Given the description of an element on the screen output the (x, y) to click on. 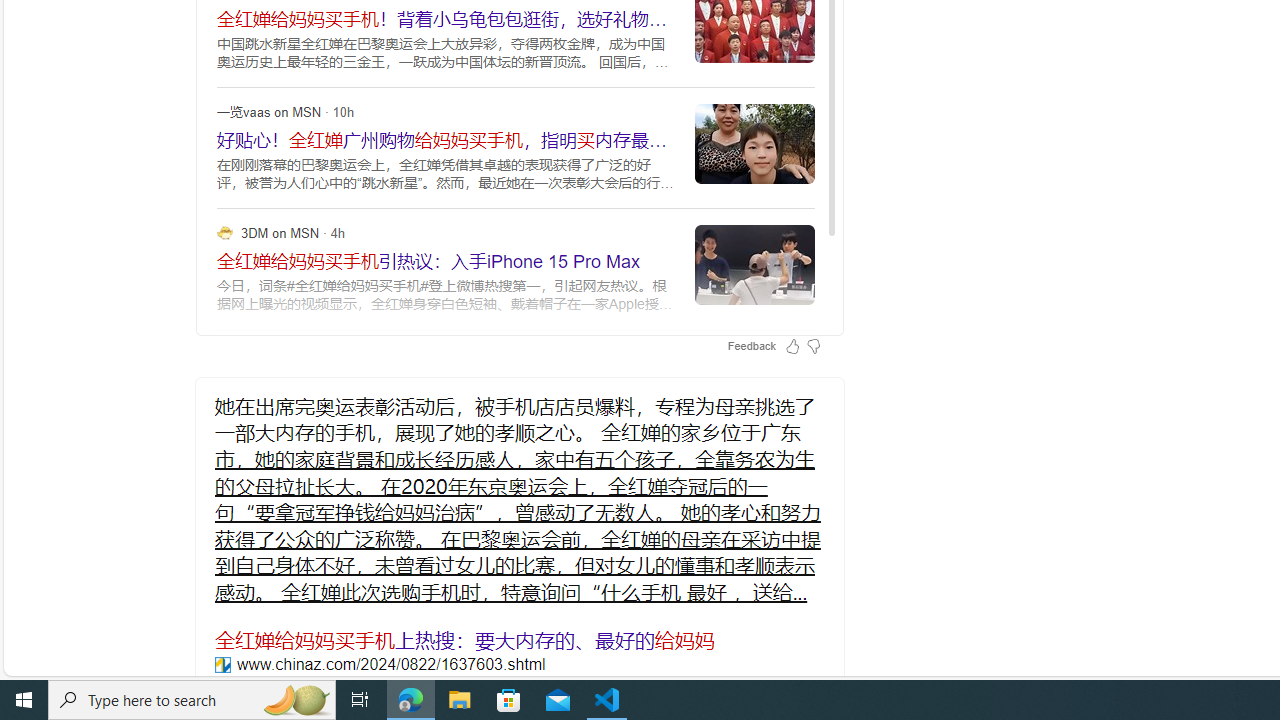
www.chinaz.com/2024/0822/1637603.shtml (222, 664)
Feedback Like (792, 345)
Feedback Dislike (813, 345)
3DM on MSN (224, 232)
